Given the description of an element on the screen output the (x, y) to click on. 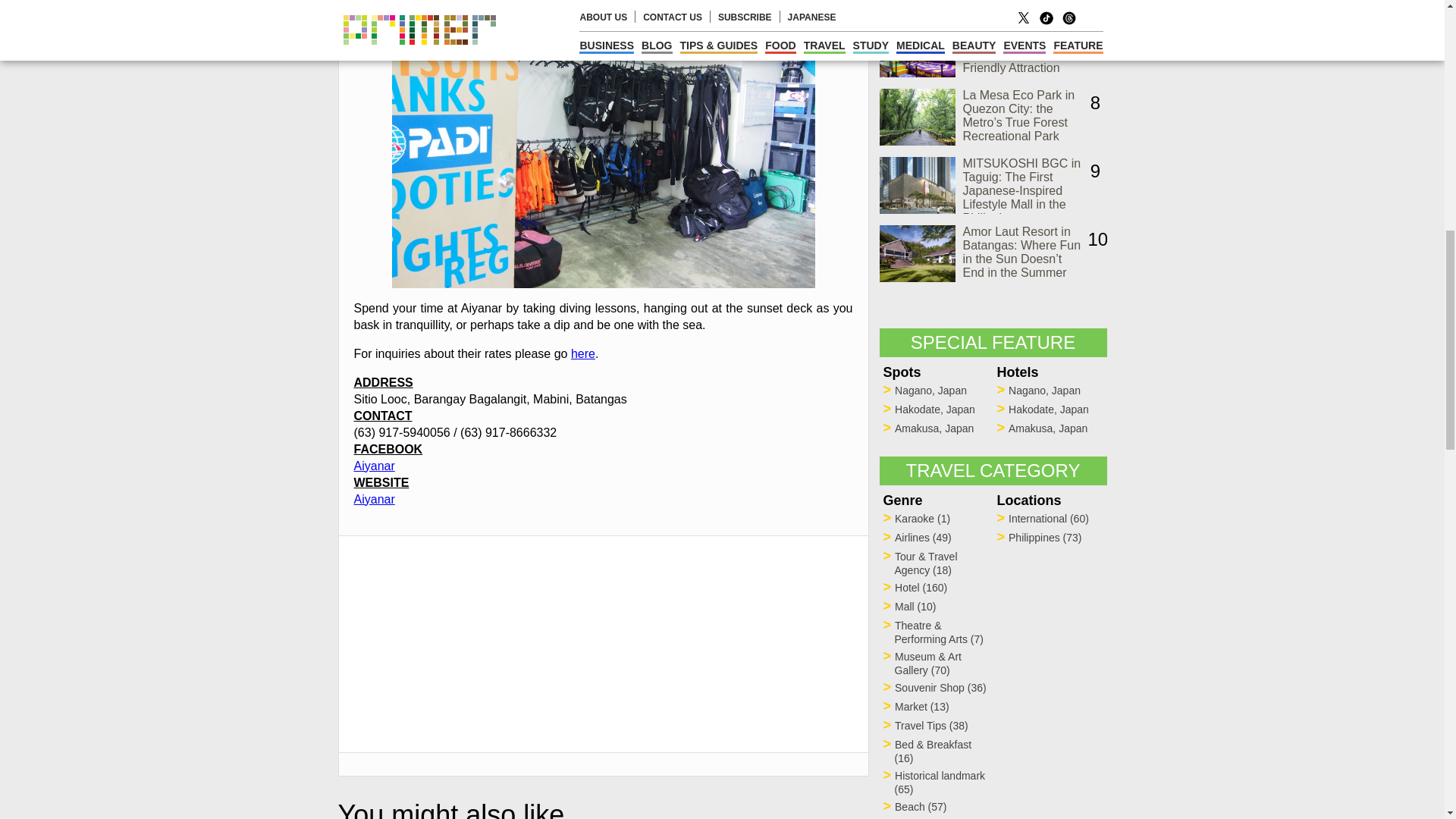
here (582, 353)
Aiyanar (373, 465)
Aiyanar (373, 499)
